Given the description of an element on the screen output the (x, y) to click on. 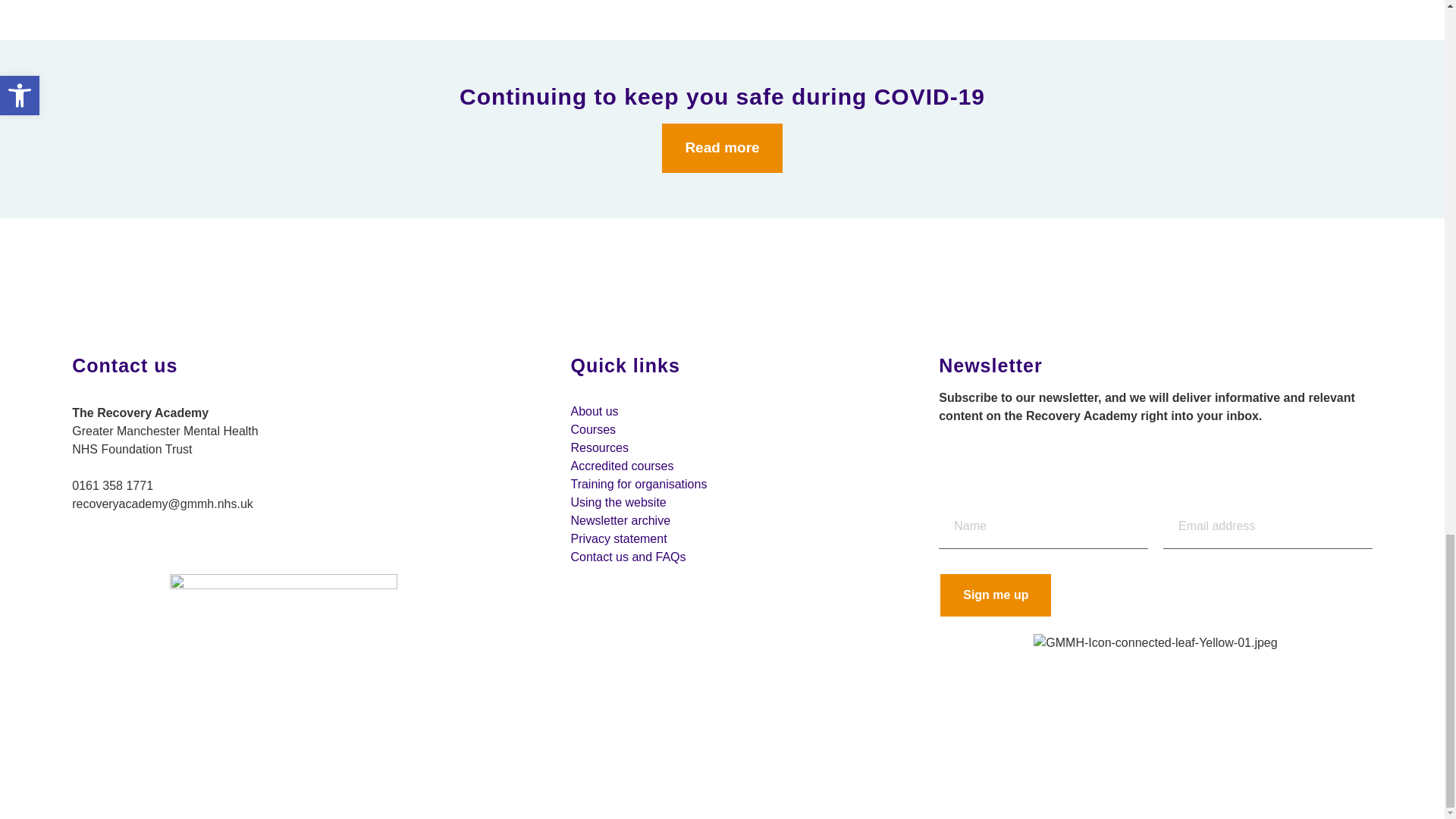
GMMH-Icon-connected-leaf-Yellow-01.jpeg (1154, 642)
